Given the description of an element on the screen output the (x, y) to click on. 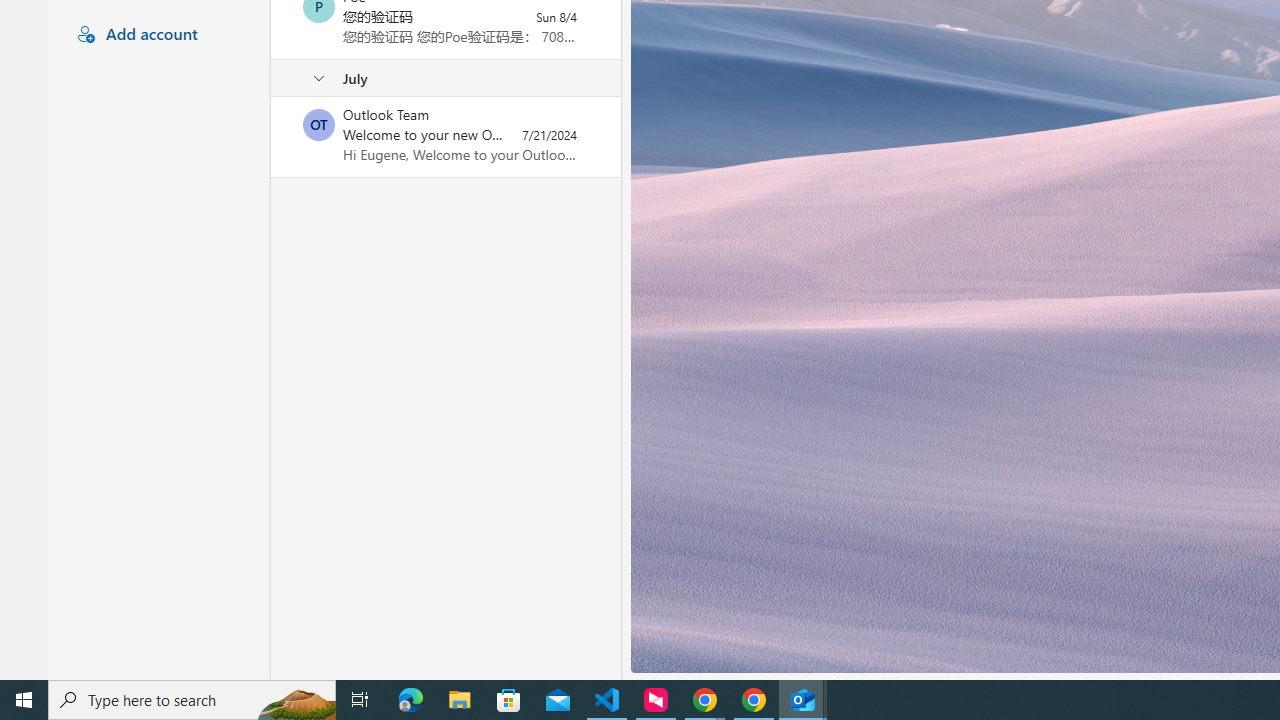
Mark as unread (273, 137)
Outlook Team (319, 124)
Select a conversation (319, 124)
